Given the description of an element on the screen output the (x, y) to click on. 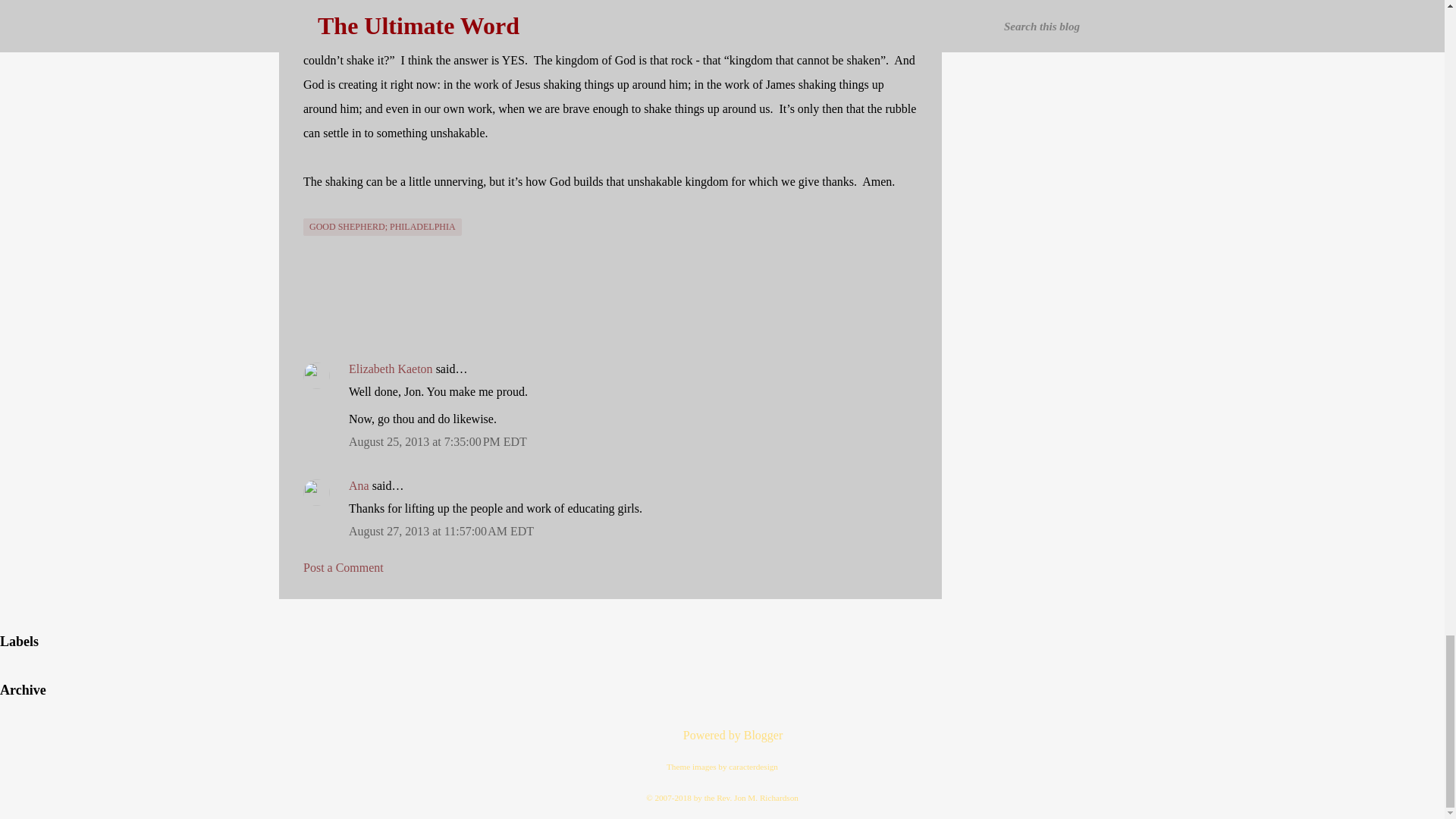
Post a Comment (343, 567)
comment permalink (438, 440)
GOOD SHEPHERD; PHILADELPHIA (381, 226)
Ana (359, 485)
Elizabeth Kaeton (390, 368)
Email Post (311, 208)
